Given the description of an element on the screen output the (x, y) to click on. 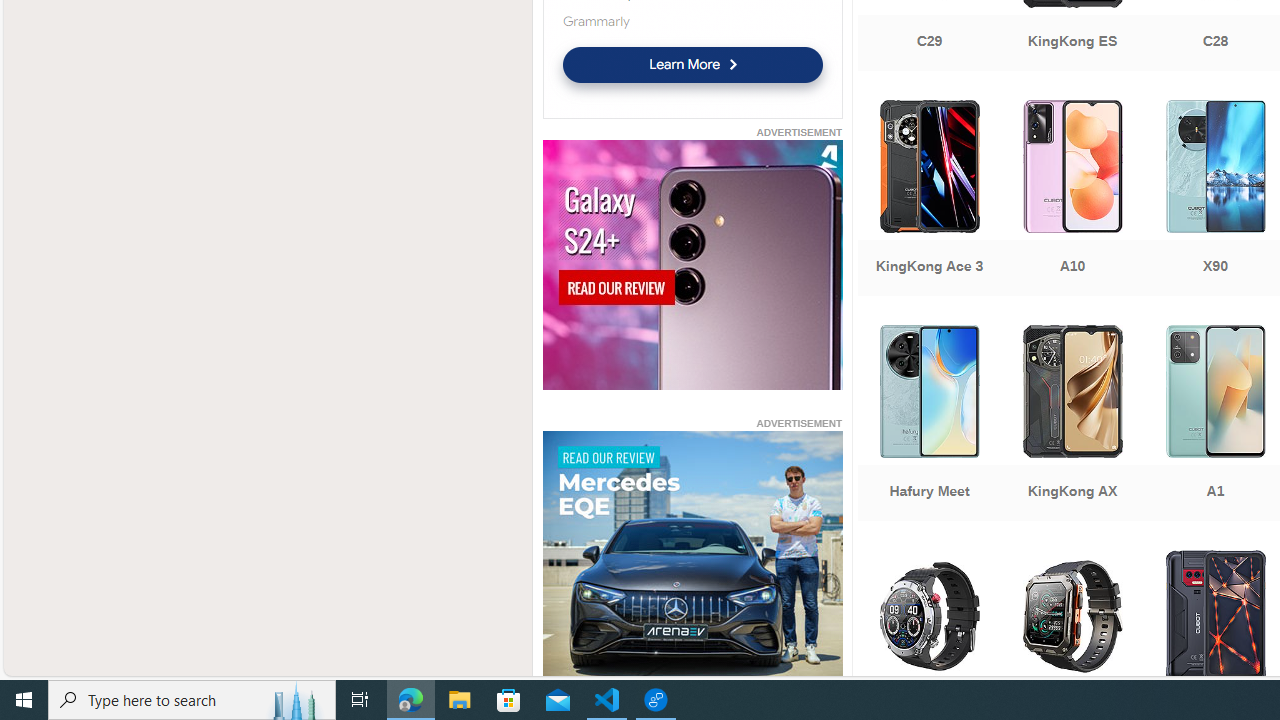
KingKong Ace 3 (928, 200)
To get missing image descriptions, open the context menu. (692, 556)
Hafury Meet (928, 425)
To get missing image descriptions, open the context menu. (692, 557)
Grammarly (595, 21)
KingKong AX (1072, 425)
A10 (1072, 200)
